Given the description of an element on the screen output the (x, y) to click on. 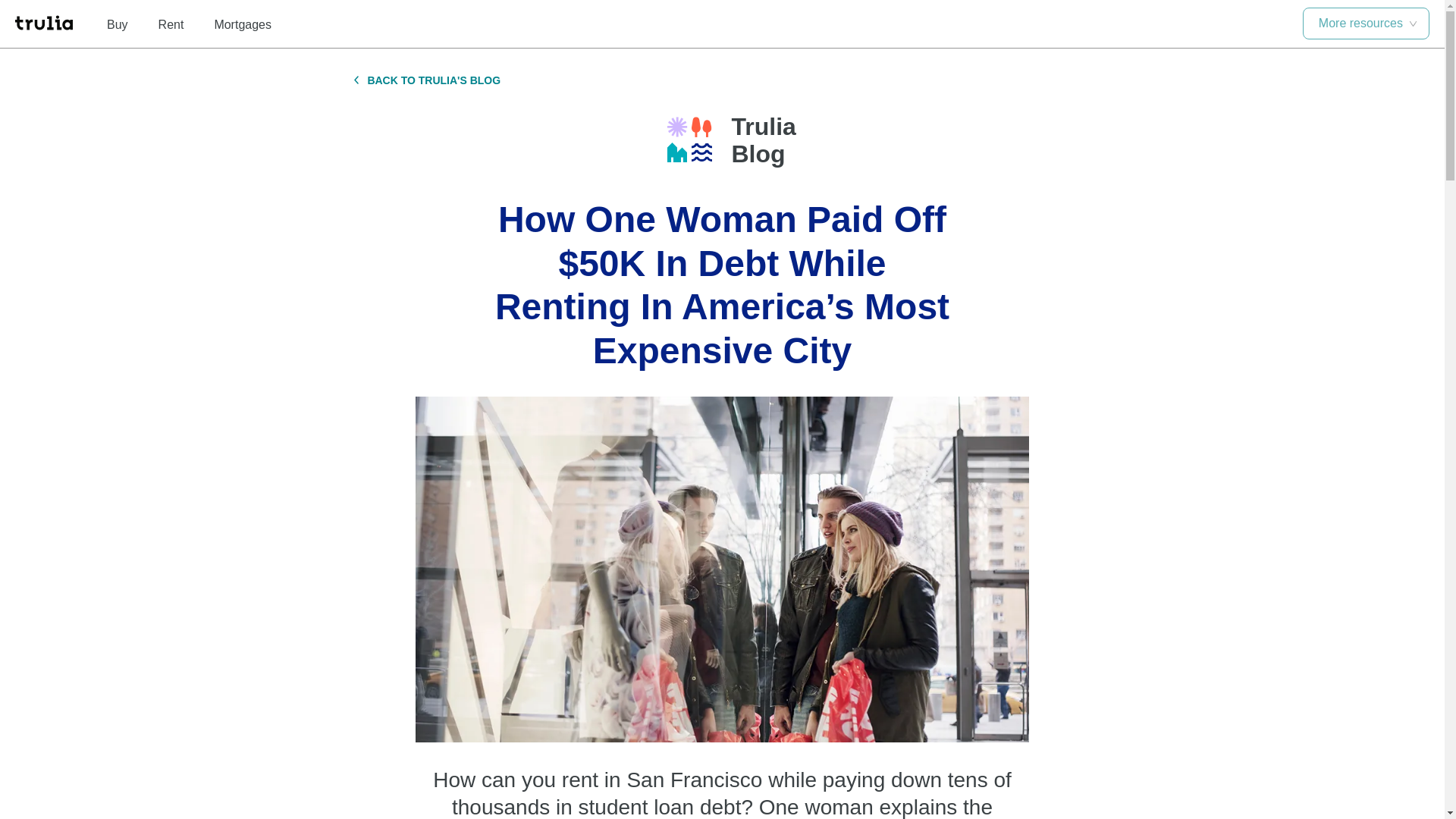
Trulia Logo (688, 139)
Rent (171, 24)
GROUP CREATED WITH SKETCH. BACK TO TRULIA'S BLOG (426, 80)
Mortgages (242, 24)
Buy (117, 24)
More resources (1366, 23)
